Given the description of an element on the screen output the (x, y) to click on. 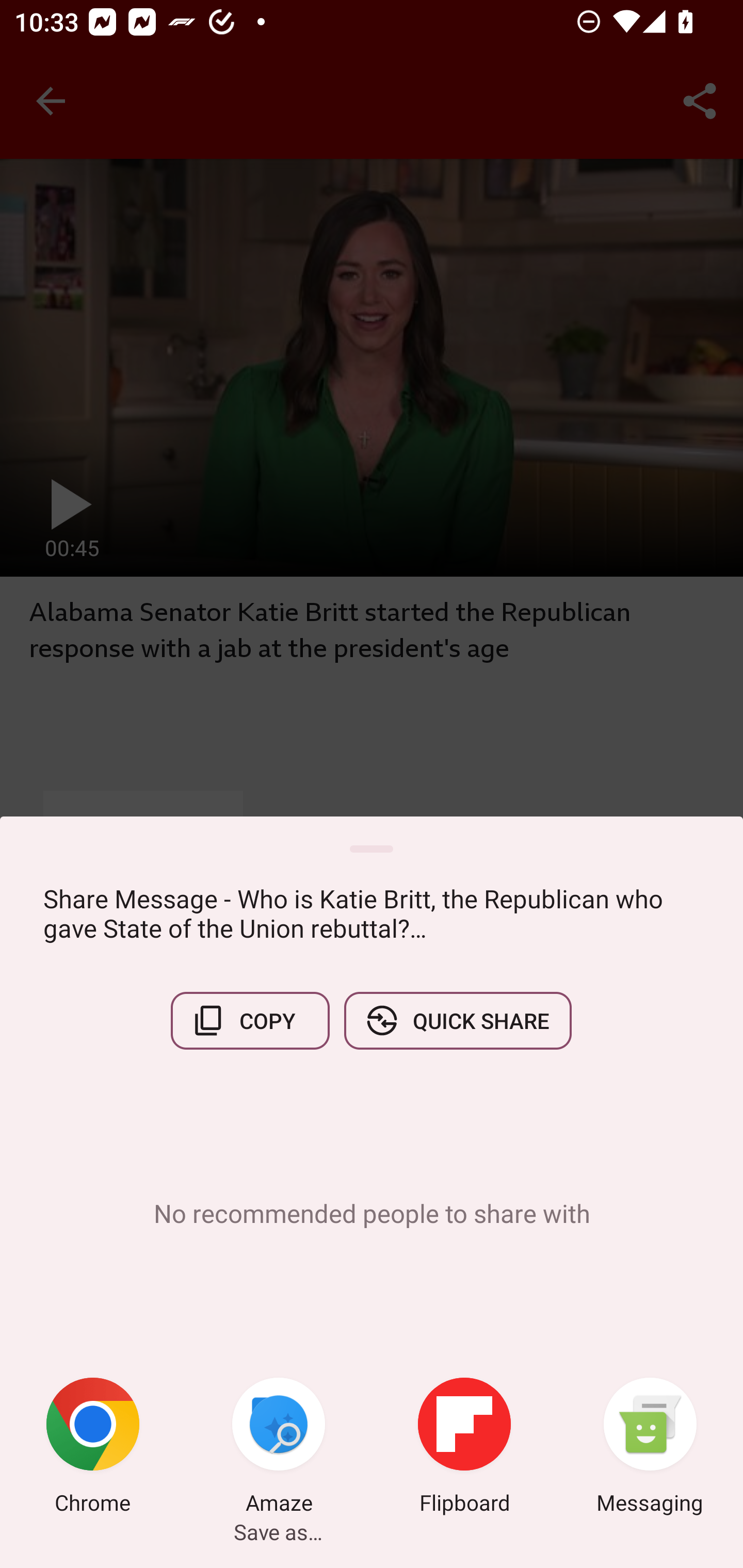
COPY (249, 1020)
QUICK SHARE (457, 1020)
Chrome (92, 1448)
Amaze Save as… (278, 1448)
Flipboard (464, 1448)
Messaging (650, 1448)
